Given the description of an element on the screen output the (x, y) to click on. 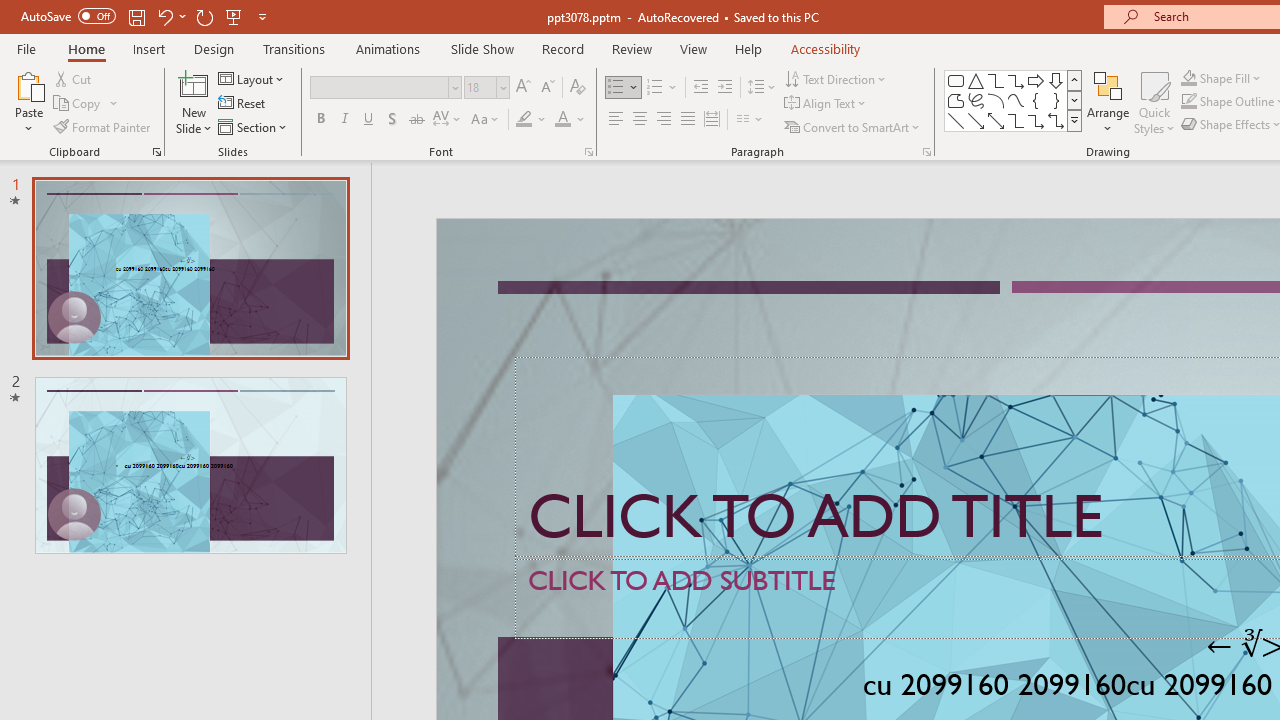
Shape Fill Dark Green, Accent 2 (1188, 78)
